Given the description of an element on the screen output the (x, y) to click on. 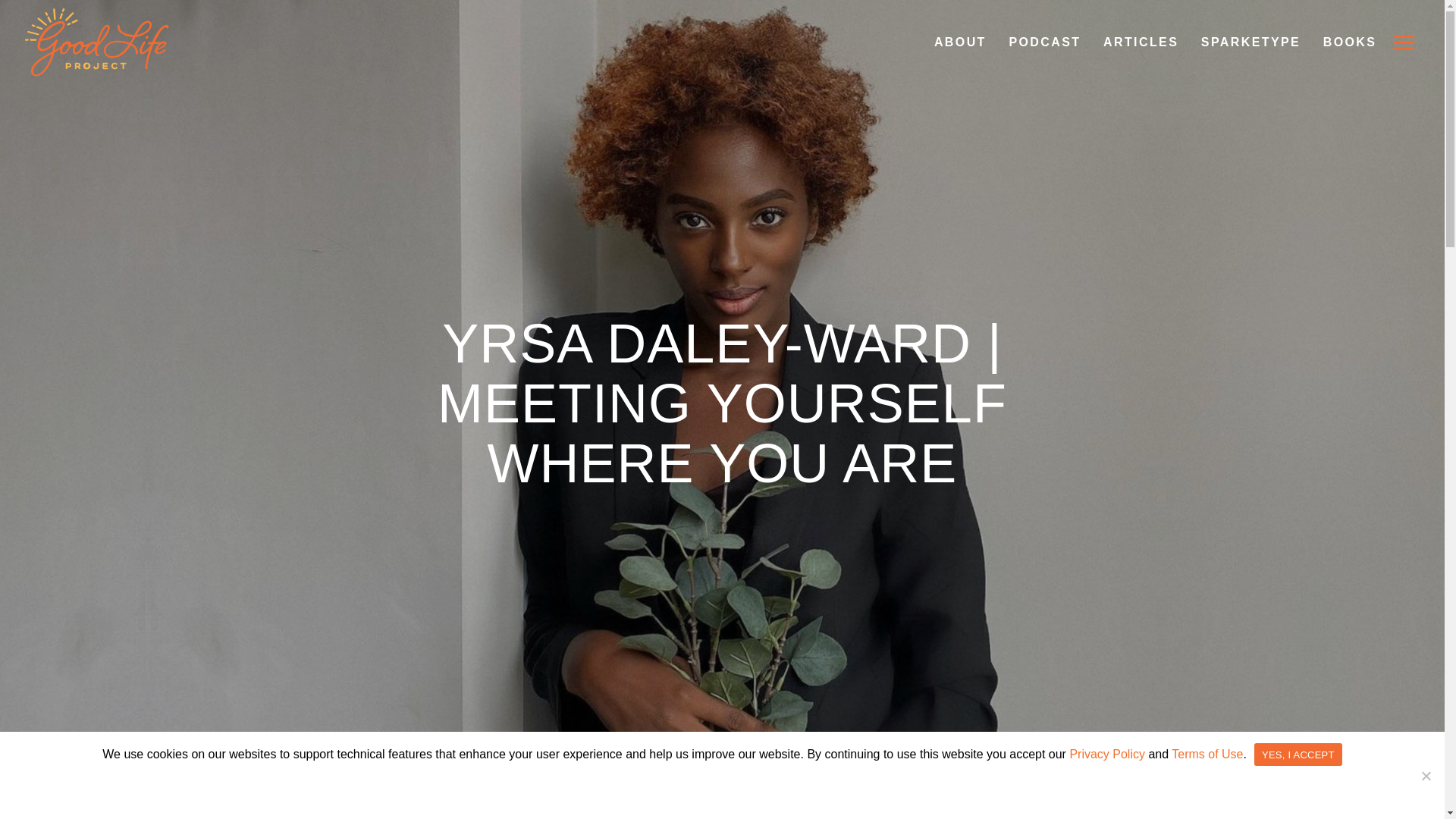
PODCAST (1042, 42)
BOOKS (1349, 42)
Scroll (721, 795)
ABOUT (959, 42)
SPARKETYPE (1250, 42)
ARTICLES (1139, 42)
Scroll (721, 795)
No (1425, 775)
